Given the description of an element on the screen output the (x, y) to click on. 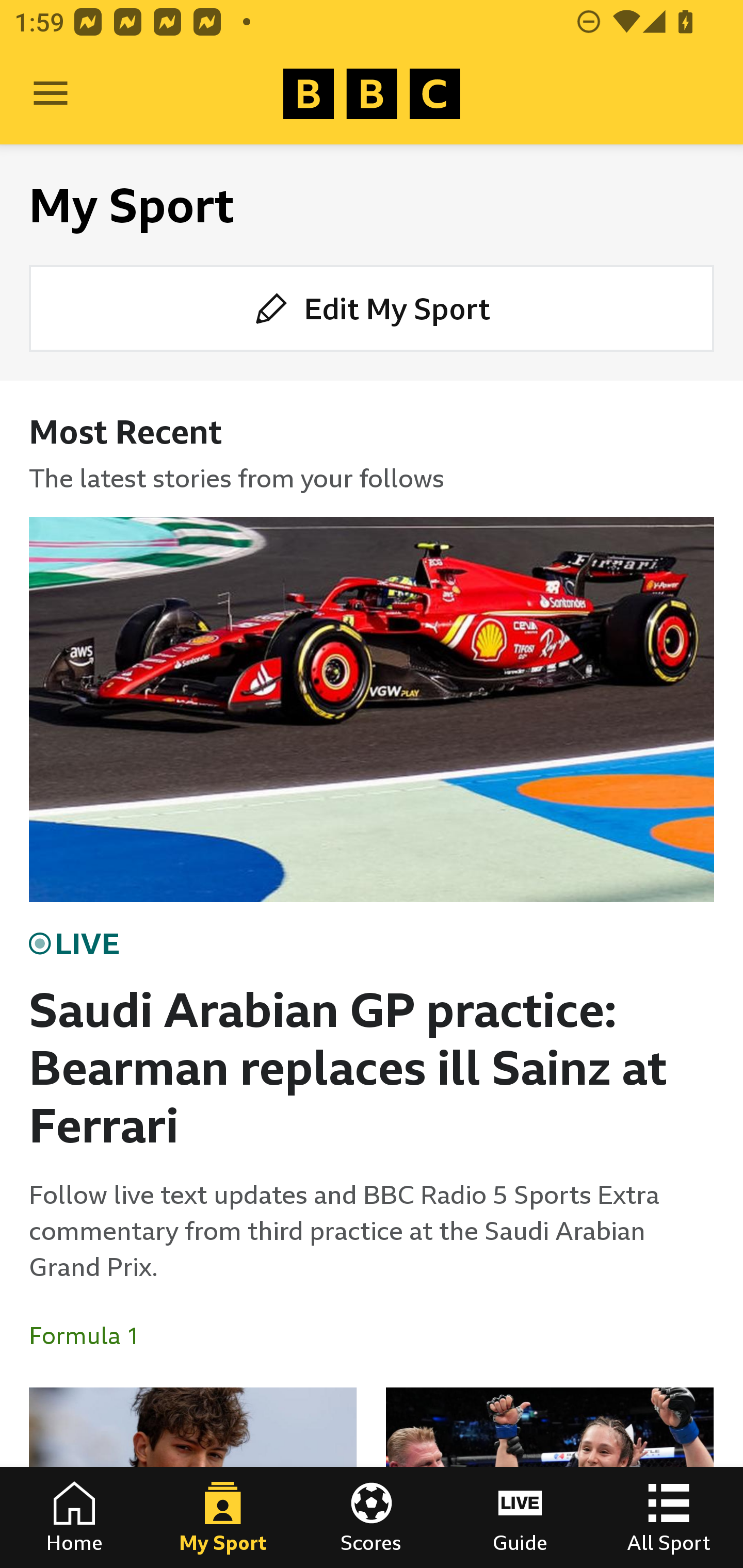
Open Menu (50, 93)
Edit My Sport (371, 307)
Home (74, 1517)
Scores (371, 1517)
Guide (519, 1517)
All Sport (668, 1517)
